Given the description of an element on the screen output the (x, y) to click on. 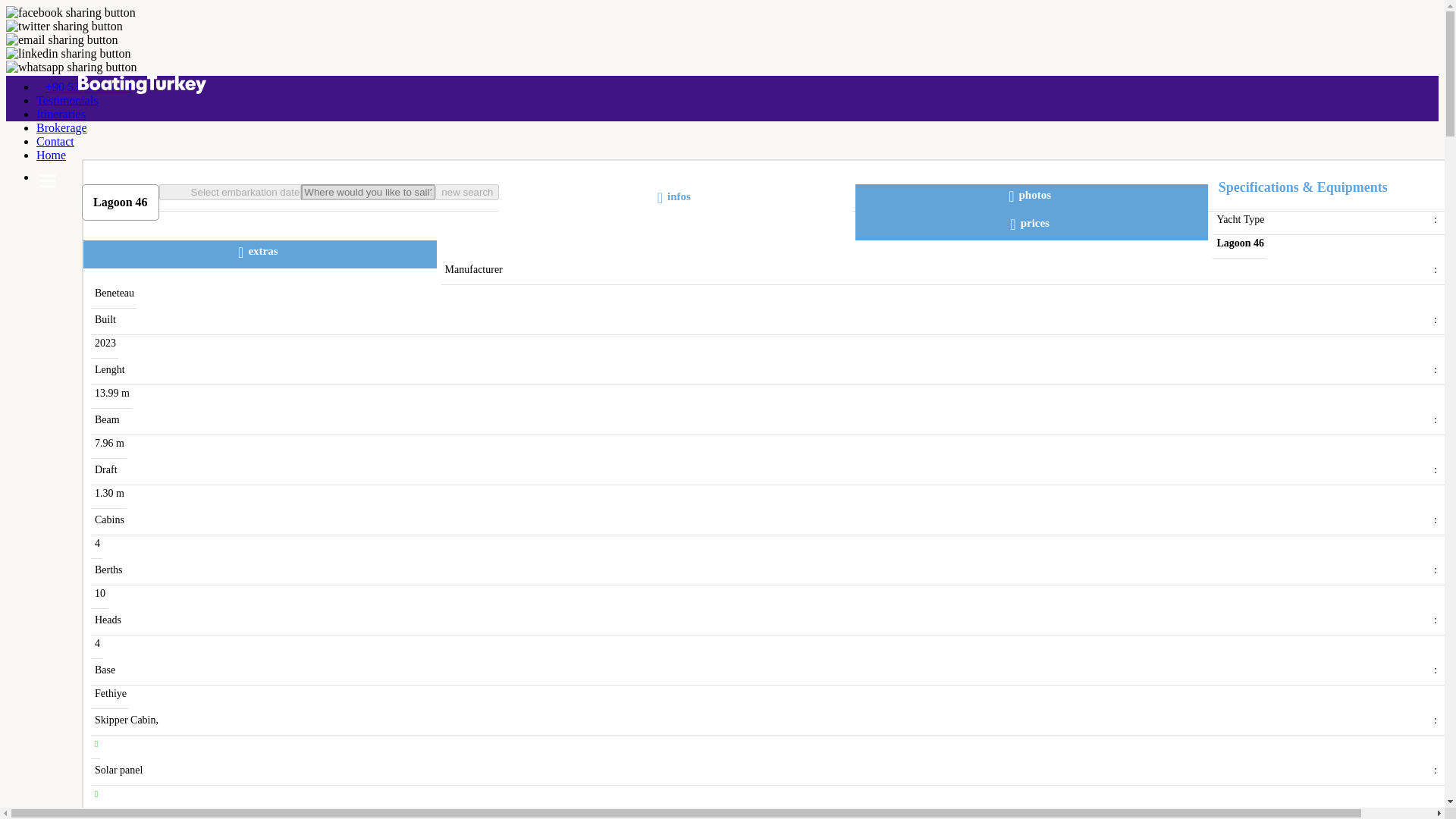
Contact (55, 141)
Itineraries (60, 113)
Home (50, 154)
Contact (55, 141)
Testimonials (67, 100)
Telephone (88, 86)
boatingturkey.net (721, 87)
Select embarkation date (229, 191)
new search (467, 191)
itineraries (60, 113)
Brokerage (61, 127)
Home (50, 154)
Testimonials (67, 100)
Brokerage (61, 127)
